Given the description of an element on the screen output the (x, y) to click on. 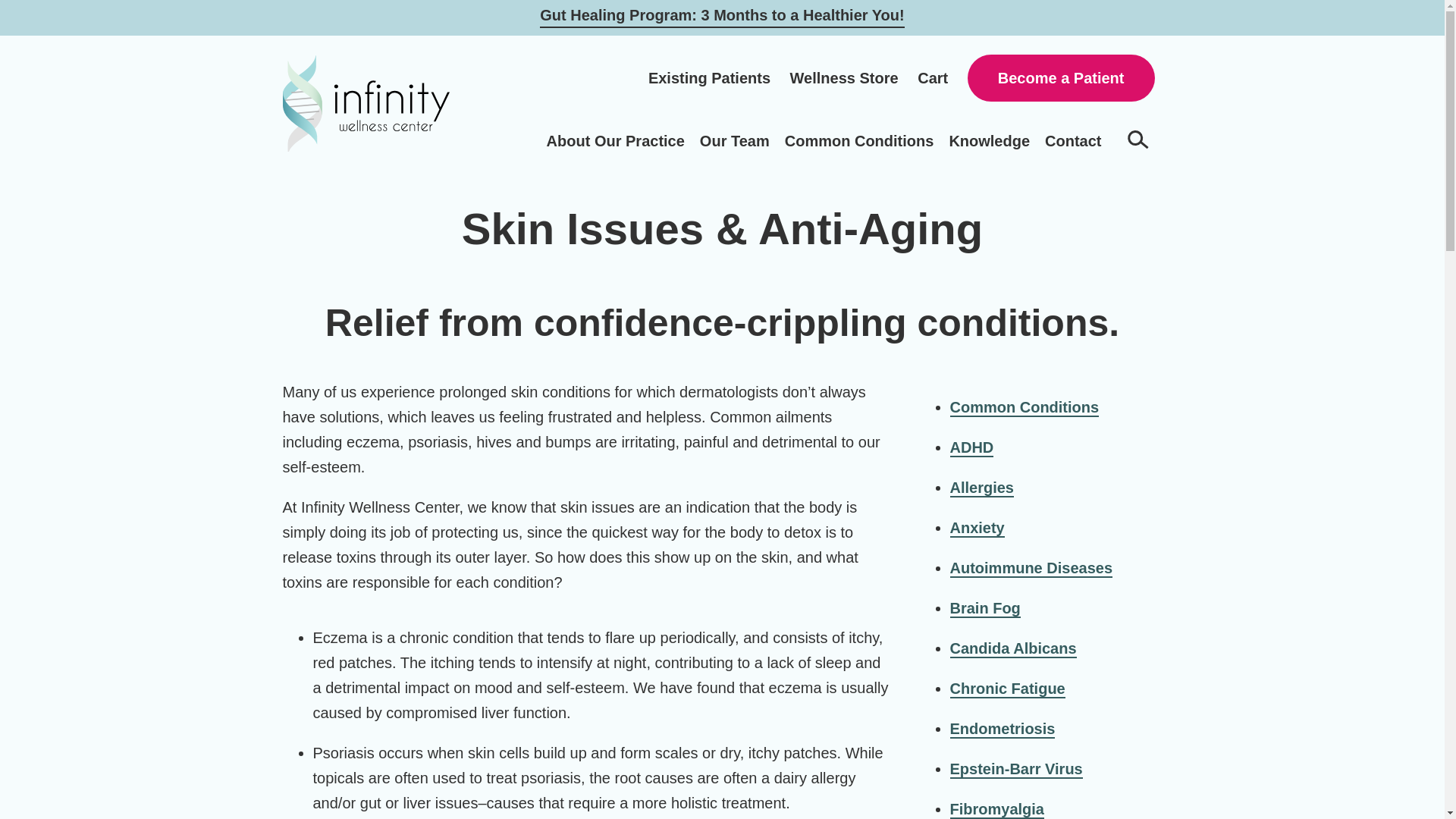
Existing Patients (708, 77)
ADHD (970, 447)
Cart (932, 77)
Knowledge (989, 140)
Return to the Infinity Wellness Telehealth homepage (365, 103)
Anxiety (976, 528)
About Our Practice (615, 140)
Contact (1072, 140)
Wellness Store (844, 77)
Gut Healing Program: 3 Months to a Healthier You! (722, 15)
